Given the description of an element on the screen output the (x, y) to click on. 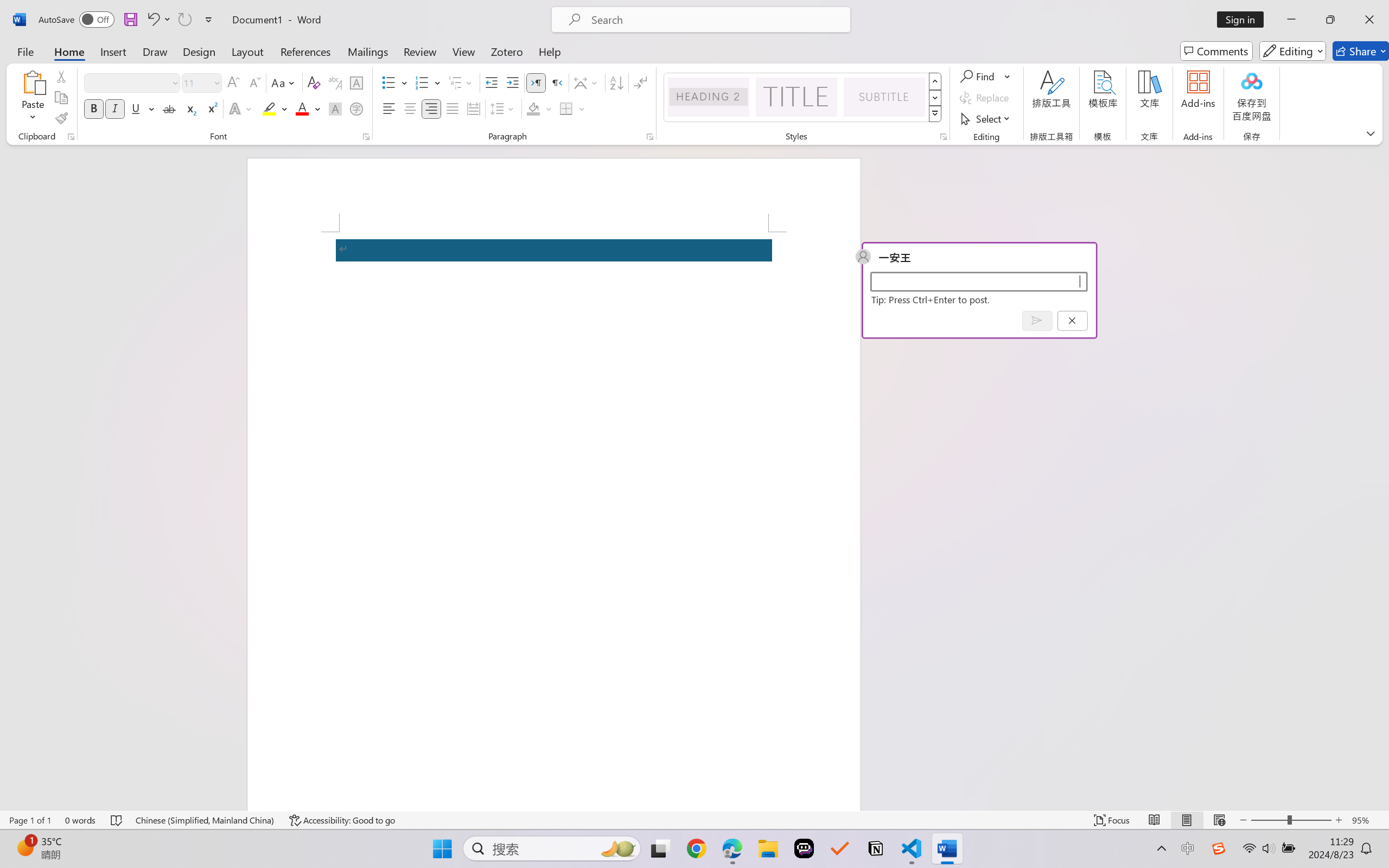
AutomationID: QuickStylesGallery (802, 97)
Undo (152, 19)
